Given the description of an element on the screen output the (x, y) to click on. 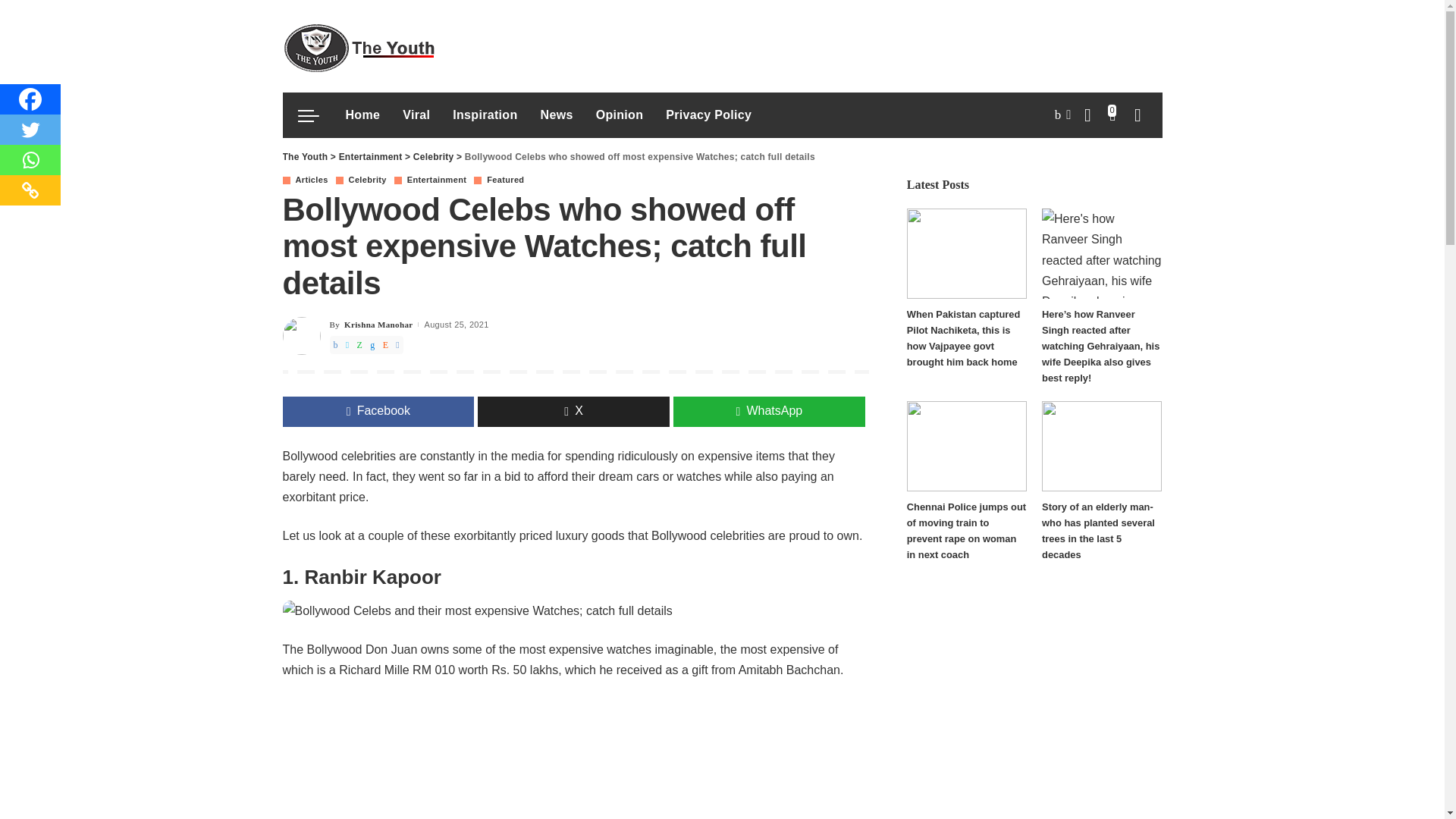
Go to the Entertainment Category archives. (371, 156)
The Youth (357, 45)
Facebook (30, 99)
Go to The Youth. (304, 156)
Go to the Celebrity Category archives. (433, 156)
